Given the description of an element on the screen output the (x, y) to click on. 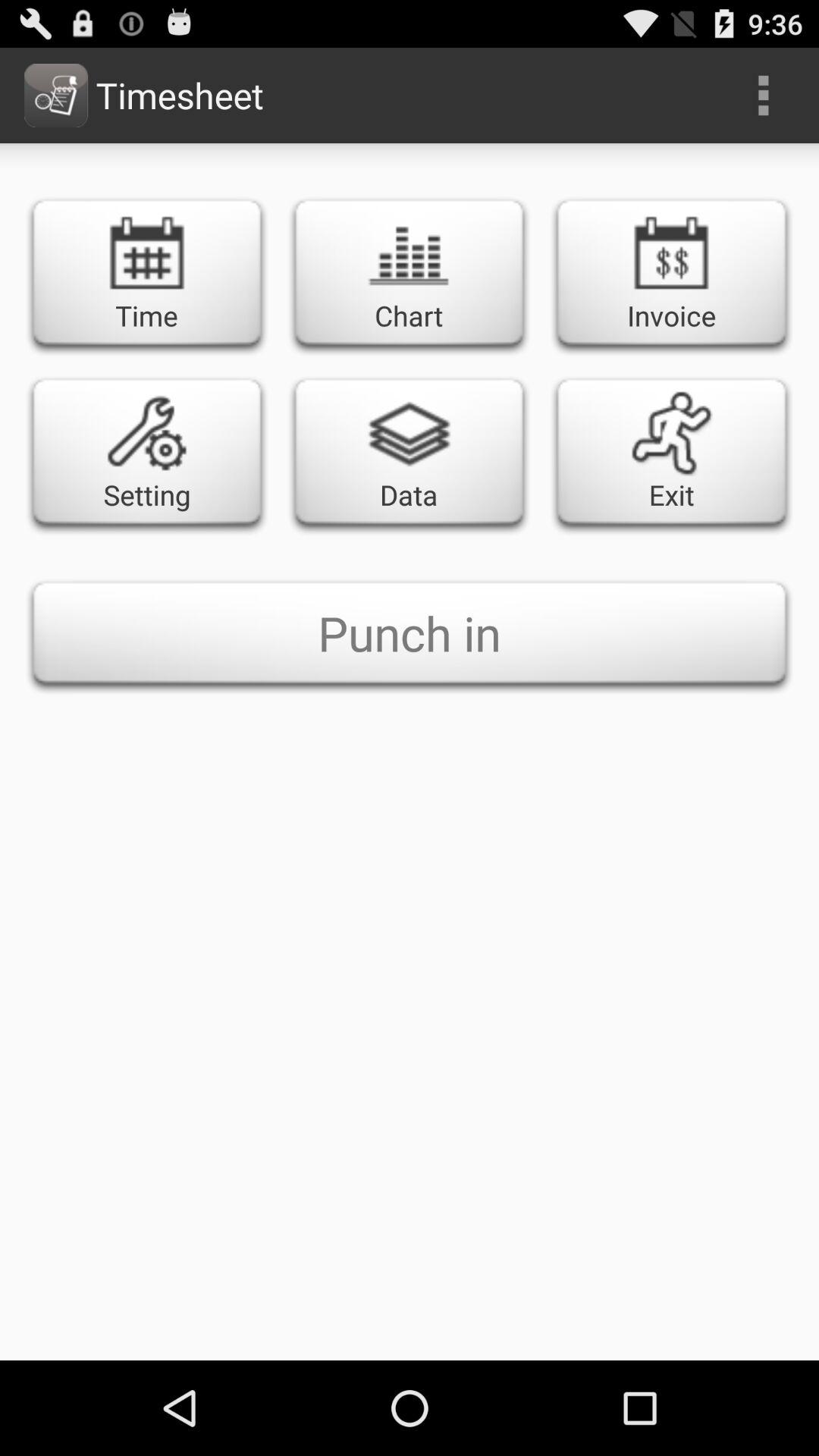
choose the item to the right of the timesheet item (763, 95)
